Given the description of an element on the screen output the (x, y) to click on. 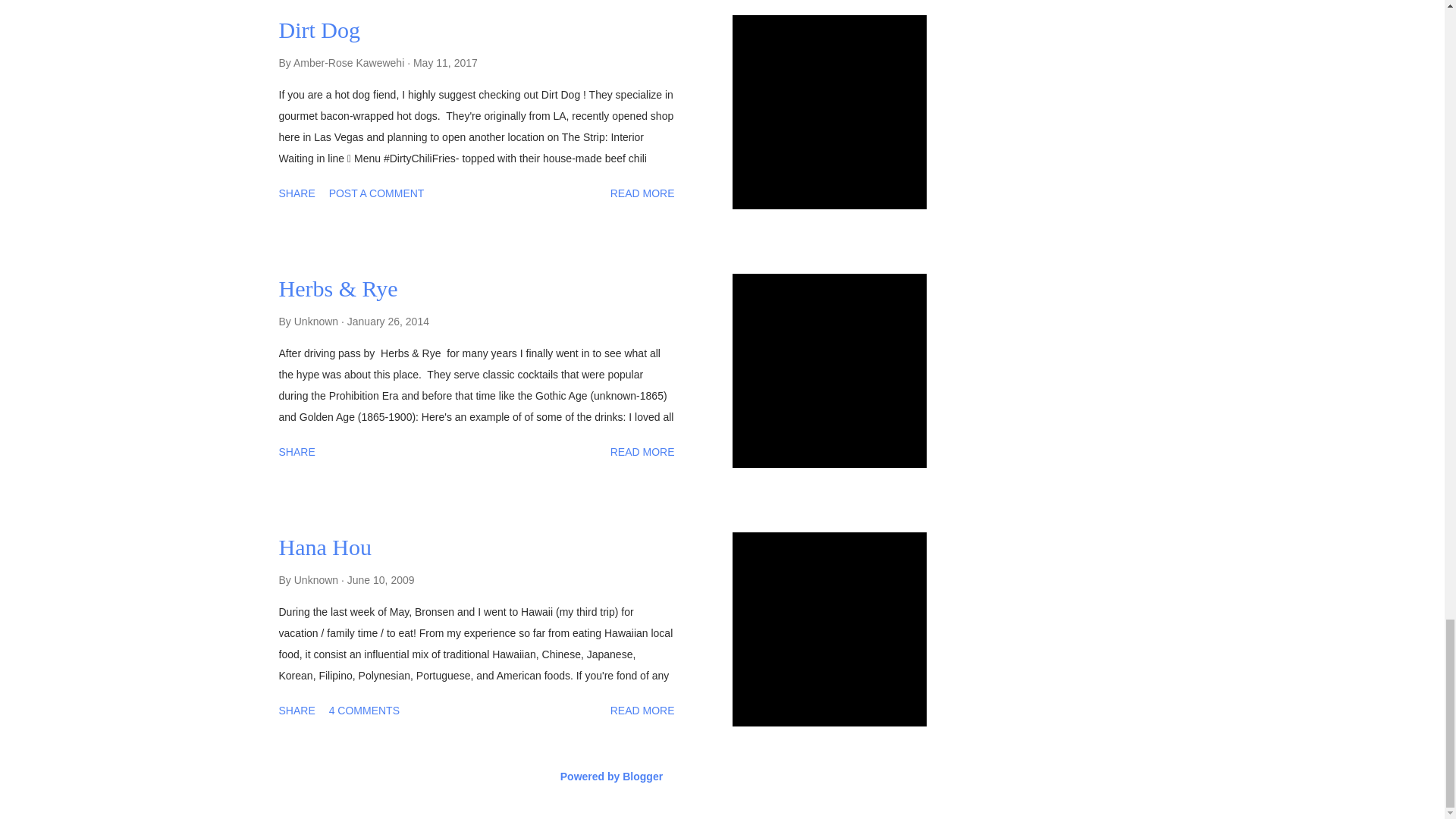
Dirt Dog (320, 28)
May 11, 2017 (445, 62)
Amber-Rose Kawewehi (350, 62)
author profile (350, 62)
